Given the description of an element on the screen output the (x, y) to click on. 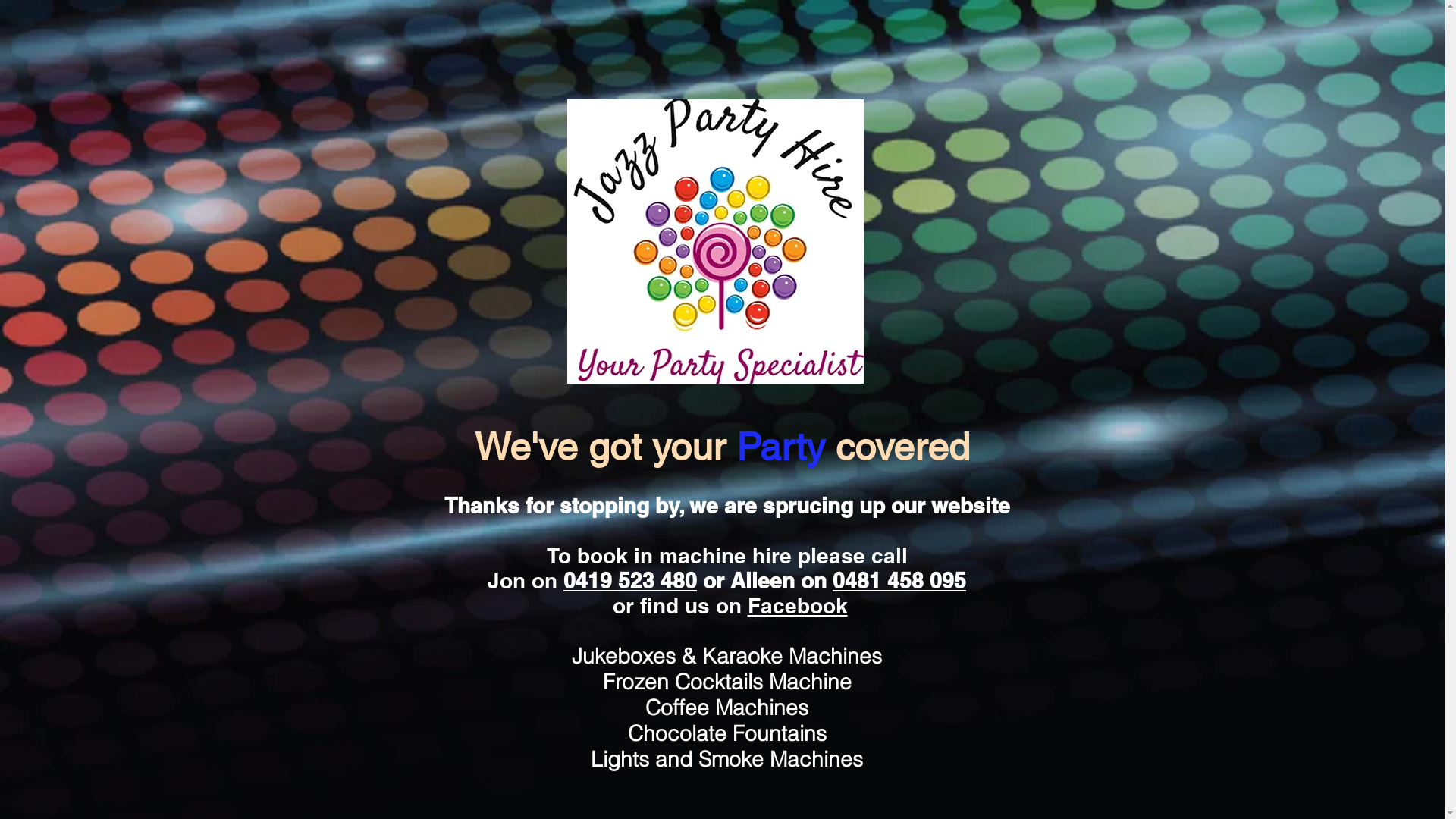
Facebook Element type: text (797, 605)
0481 458 095 Element type: text (899, 580)
0419 523 480 Element type: text (629, 580)
